Given the description of an element on the screen output the (x, y) to click on. 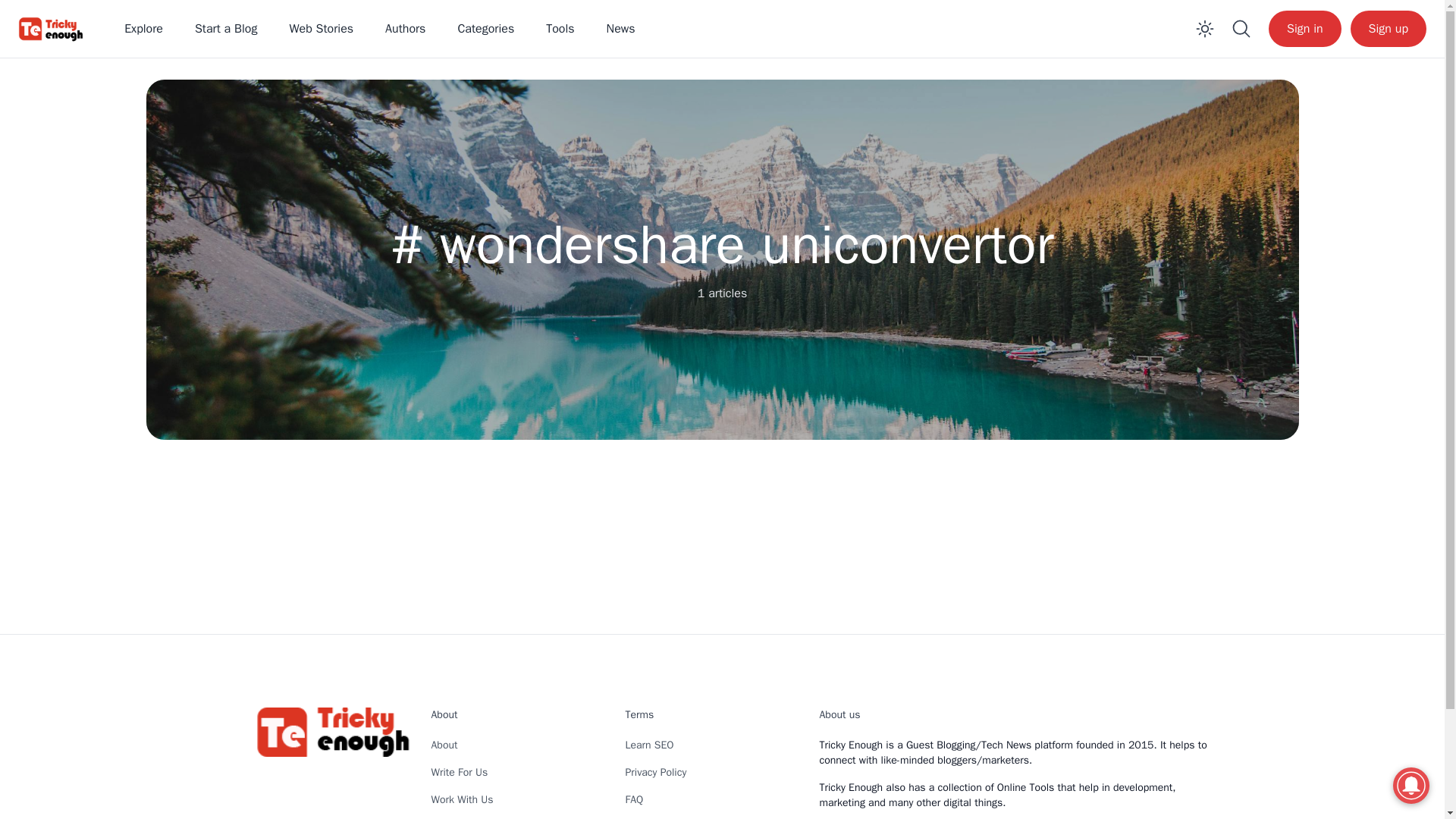
Categories (485, 28)
About (443, 744)
Tools (560, 28)
FAQ (633, 799)
Enable dark mode (1204, 28)
Sign in (1304, 28)
Work With Us (461, 799)
Explore (143, 28)
Learn SEO (648, 744)
Start a Blog (225, 28)
Write For Us (458, 771)
Privacy Policy (654, 771)
Authors (405, 28)
News (620, 28)
Sign up (1388, 28)
